Given the description of an element on the screen output the (x, y) to click on. 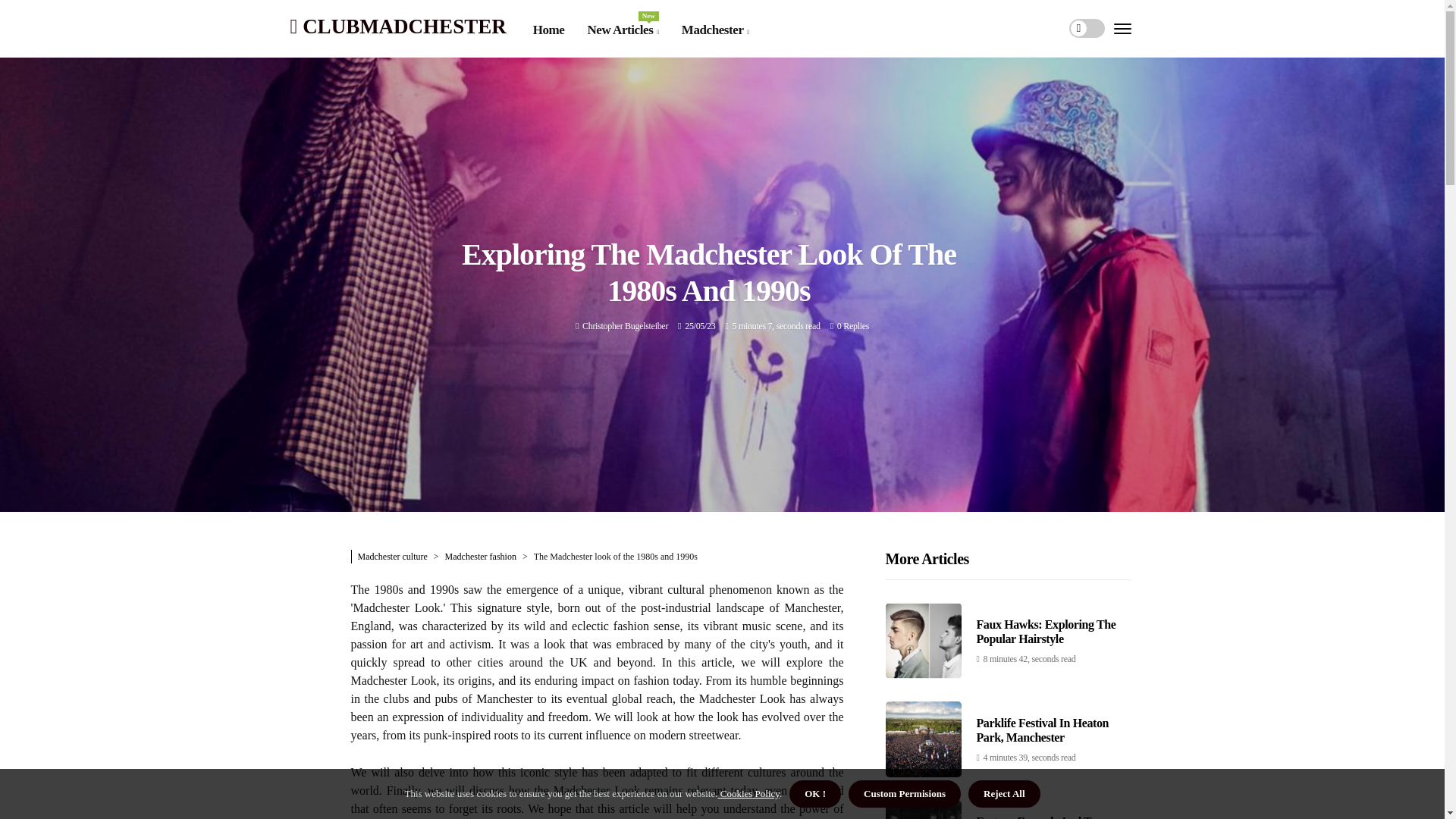
Madchester (715, 30)
Home (548, 30)
CLUBMADCHESTER (622, 30)
Posts by Christopher Bugelsteiber (397, 26)
